Given the description of an element on the screen output the (x, y) to click on. 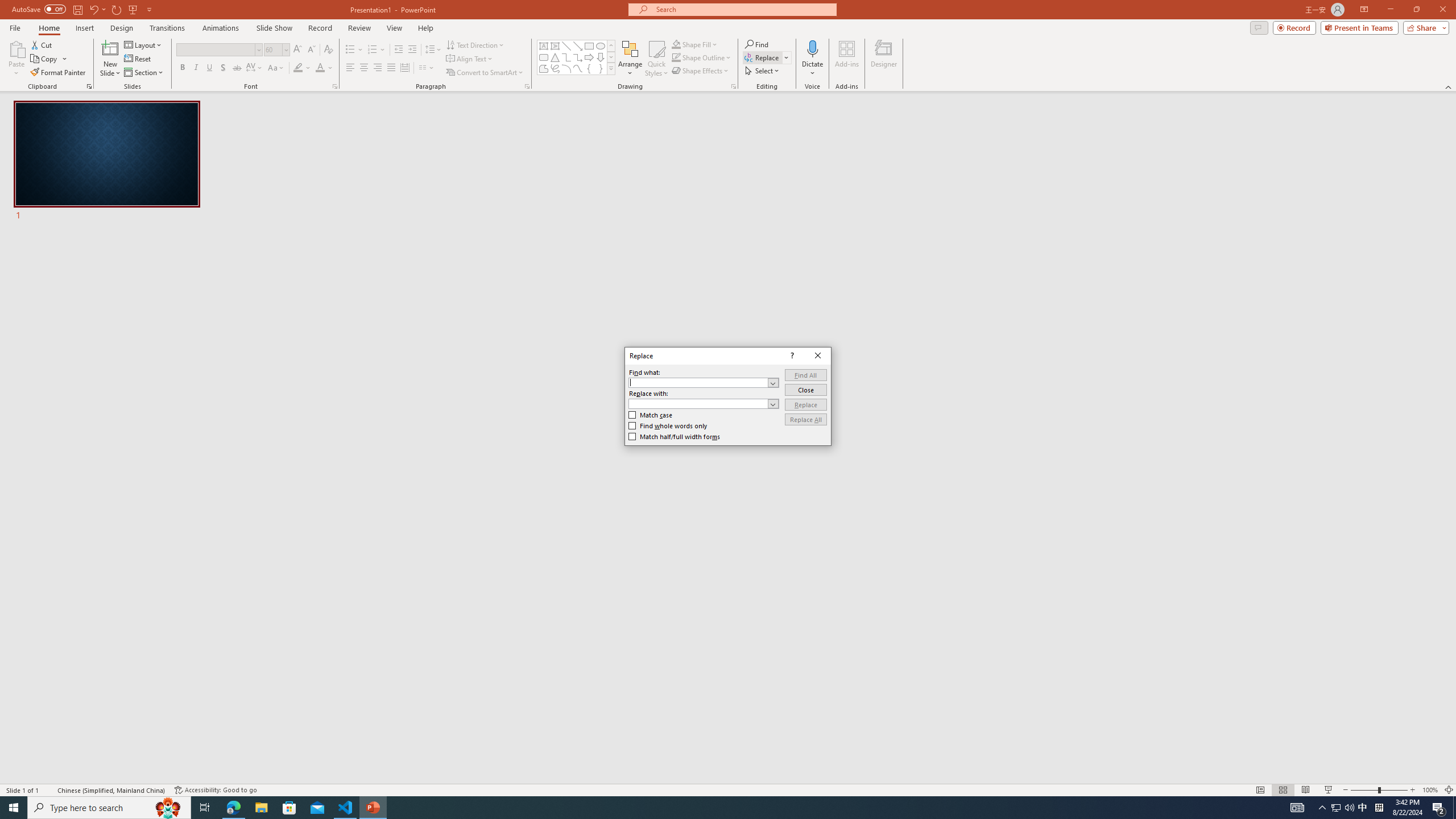
Microsoft Edge - 1 running window (233, 807)
Action Center, 2 new notifications (1439, 807)
Microsoft Store (289, 807)
Format Painter (58, 72)
Right Brace (600, 68)
File Explorer (261, 807)
Center (363, 67)
Select (762, 69)
Section (144, 72)
